Given the description of an element on the screen output the (x, y) to click on. 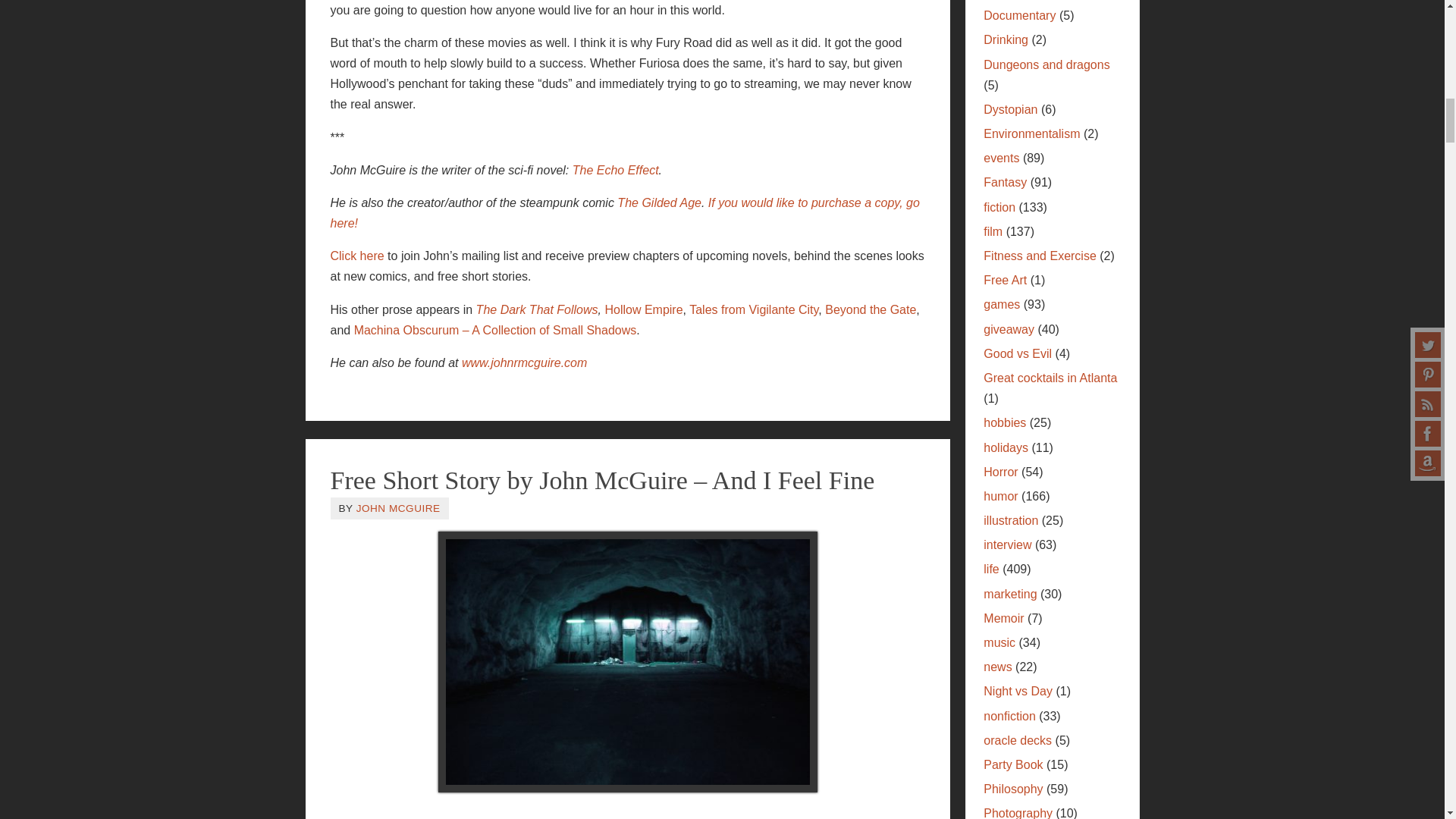
The Gilded Age (659, 202)
The Echo Effect (615, 169)
Hollow Empire (643, 309)
Click here (357, 255)
If you would like to purchase a copy, go here! (625, 213)
The Dark That Follows (537, 309)
View all posts by John McGuire (398, 508)
